Given the description of an element on the screen output the (x, y) to click on. 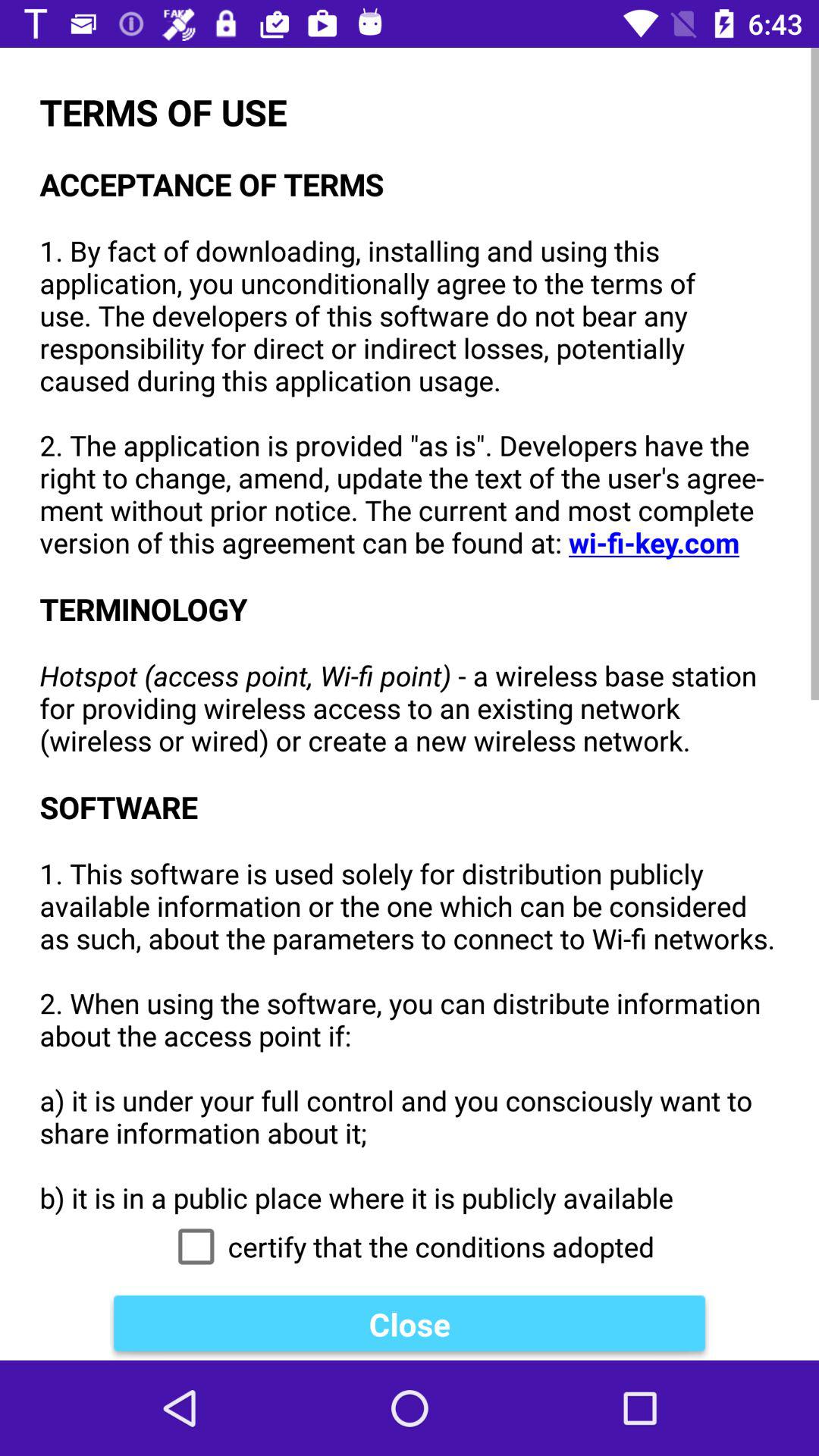
press the item above the close item (409, 1246)
